Given the description of an element on the screen output the (x, y) to click on. 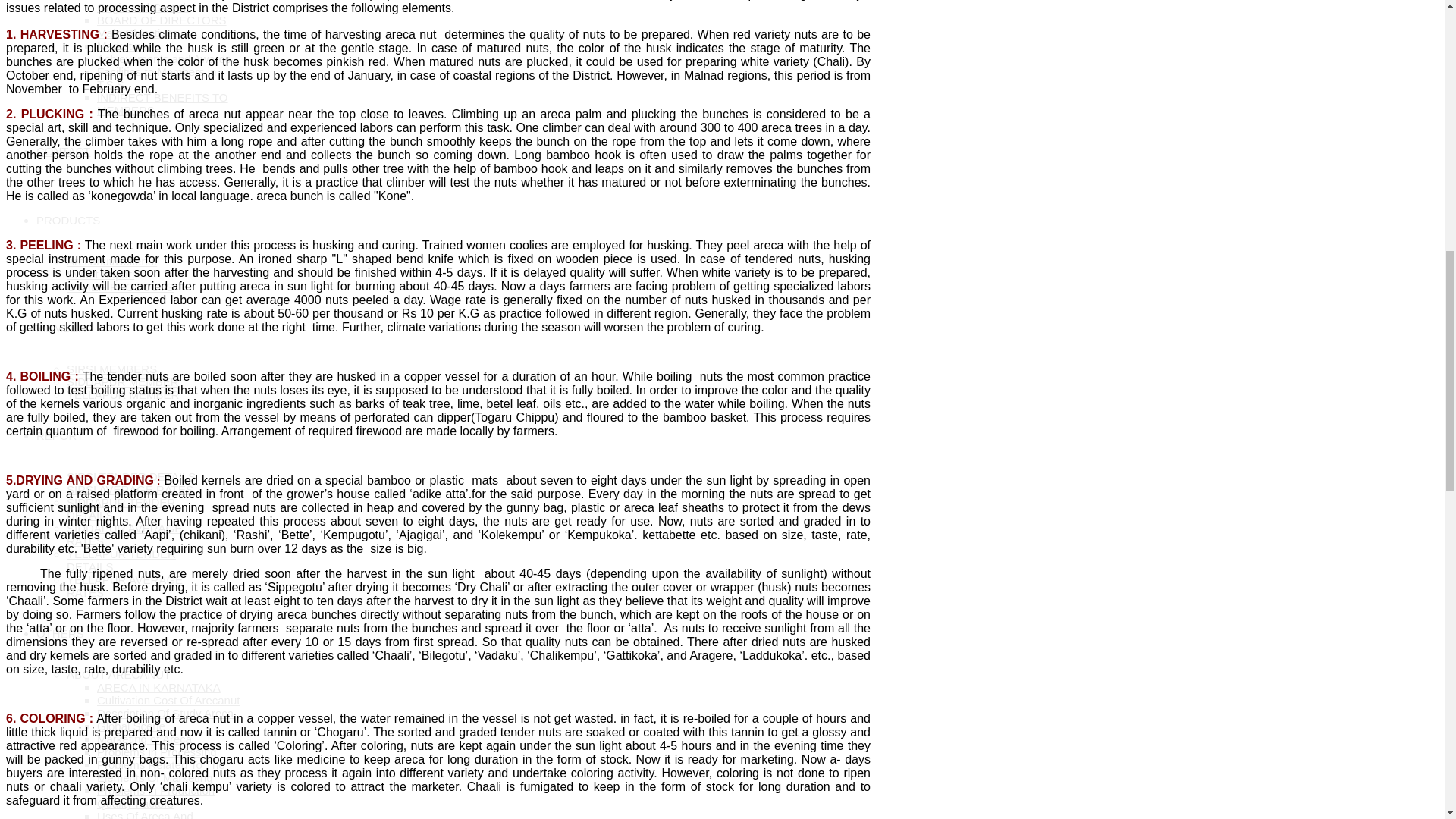
About Us (89, 0)
Origin and Growth (143, 6)
BOARD OF DIRECTORS (162, 19)
Marketing (122, 45)
Main Objectives (137, 32)
